Given the description of an element on the screen output the (x, y) to click on. 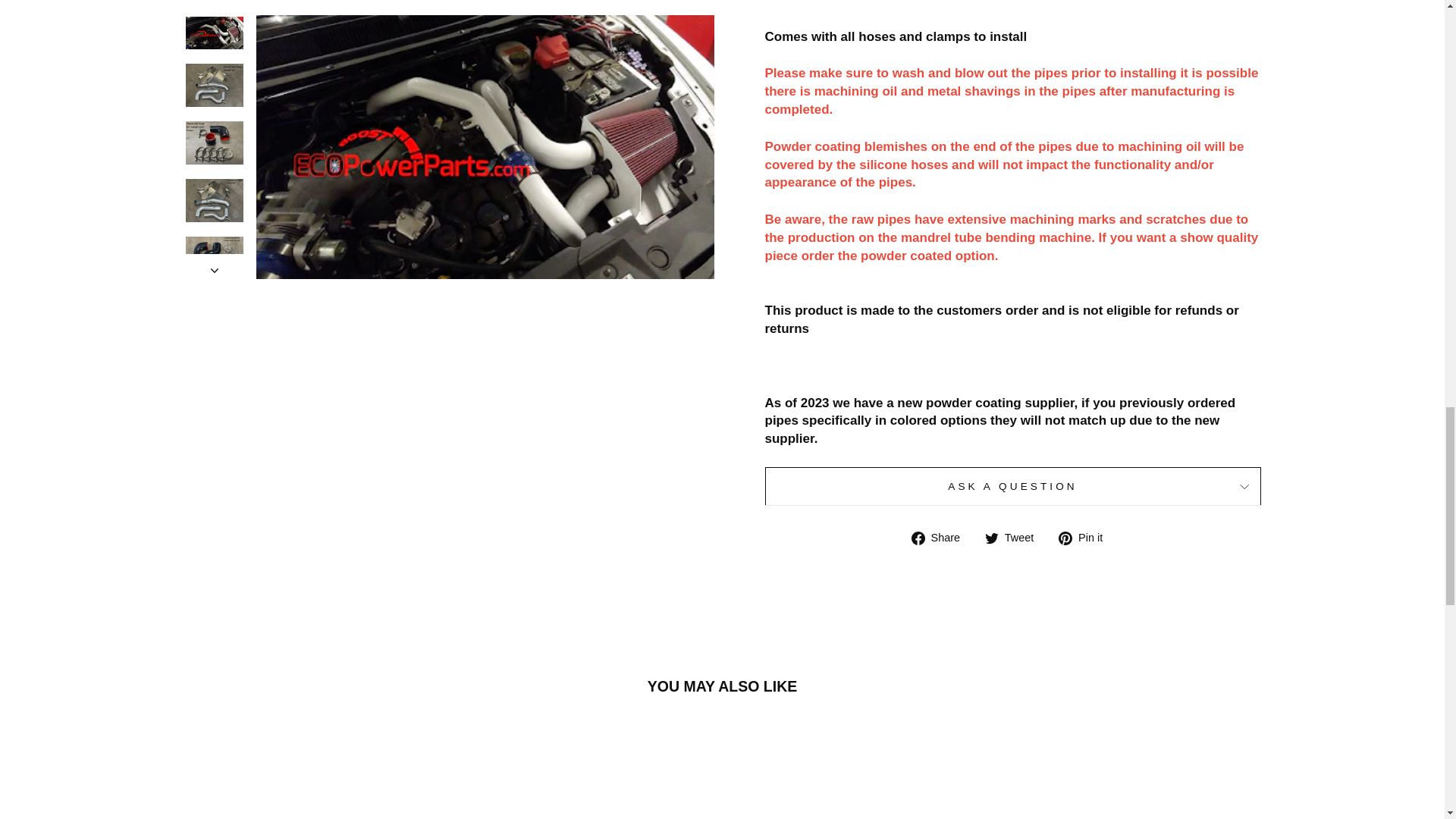
Pin on Pinterest (1085, 537)
twitter (991, 538)
Tweet on Twitter (1015, 537)
Share on Facebook (941, 537)
